Given the description of an element on the screen output the (x, y) to click on. 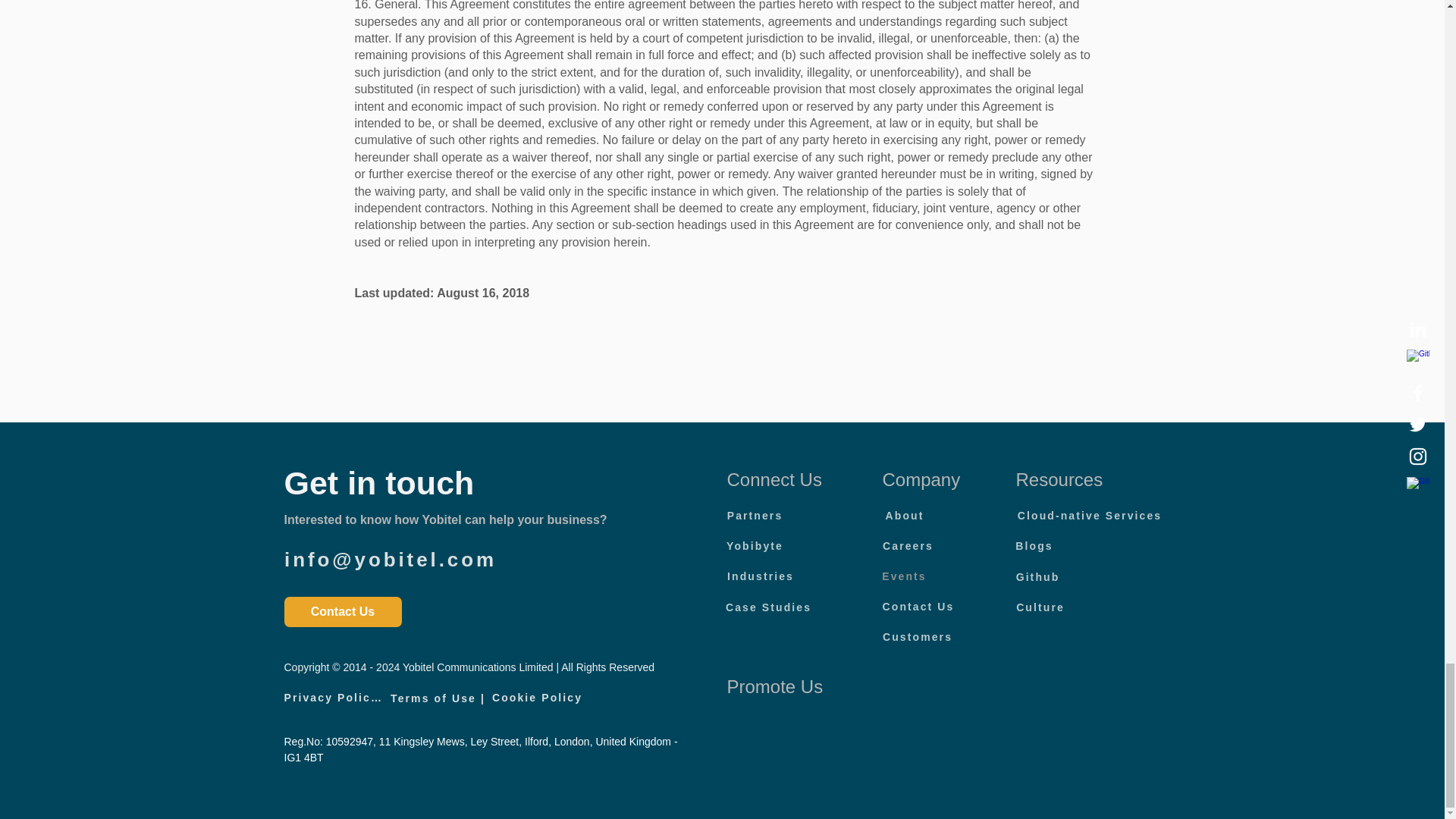
Github (1037, 576)
Customers (916, 636)
Culture (1040, 607)
Blogs (1033, 545)
Industries (760, 576)
Contact Us (918, 606)
Events (904, 576)
Careers (908, 545)
Cloud-native Services (1089, 515)
Case Studies (768, 607)
